Given the description of an element on the screen output the (x, y) to click on. 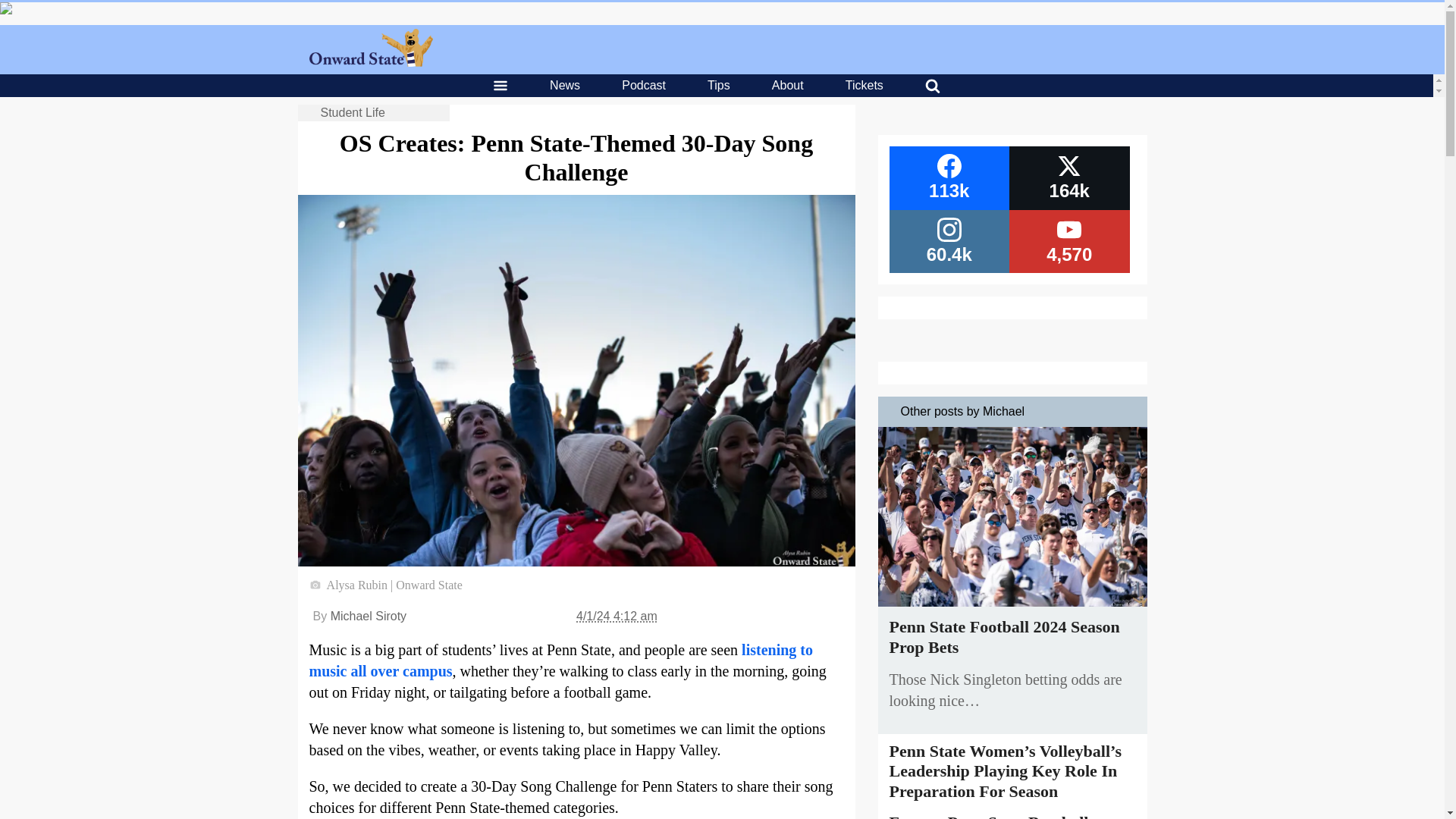
Tips (718, 85)
Michael Siroty (368, 615)
Podcast (643, 85)
News (564, 85)
About (787, 85)
Student Life (352, 112)
Home (370, 62)
Monday, April 1, 2024 at 4:12am (617, 615)
Tips (718, 85)
About (787, 85)
